Given the description of an element on the screen output the (x, y) to click on. 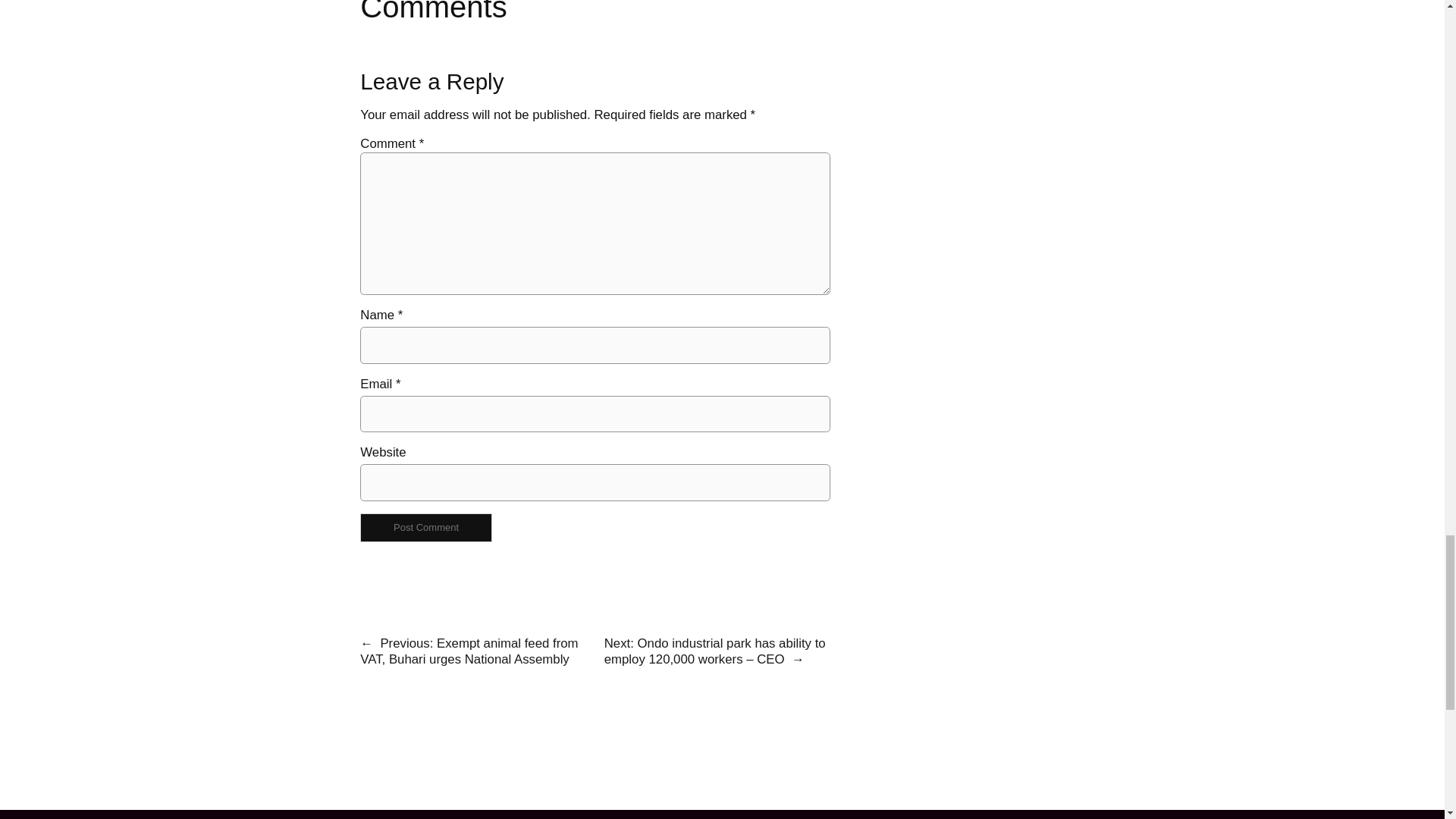
Post Comment (425, 527)
Post Comment (425, 527)
